Given the description of an element on the screen output the (x, y) to click on. 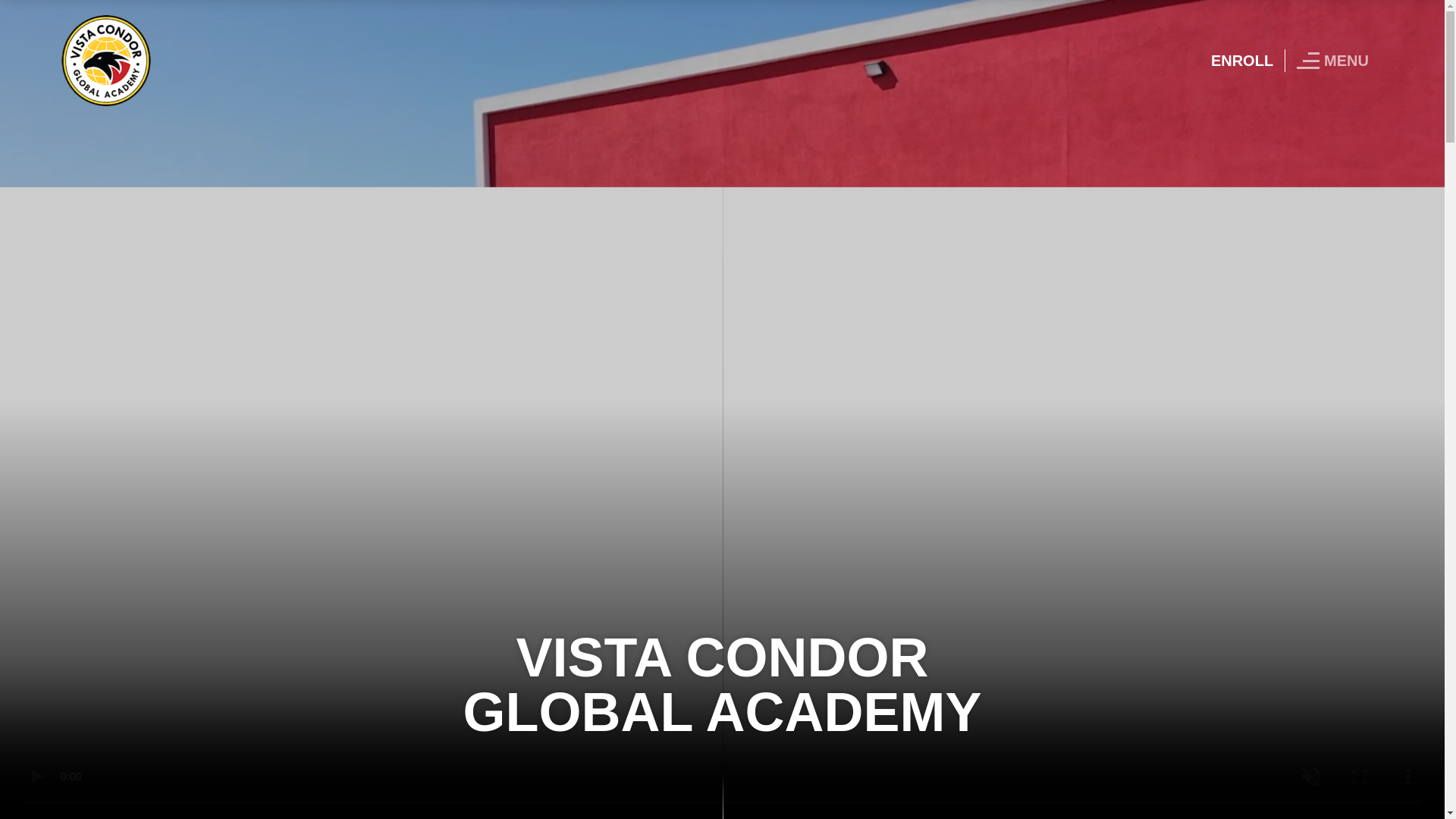
Vista Condor Global Academy Santa Ana (106, 59)
ENROLL (1242, 60)
MENU (1336, 60)
